Given the description of an element on the screen output the (x, y) to click on. 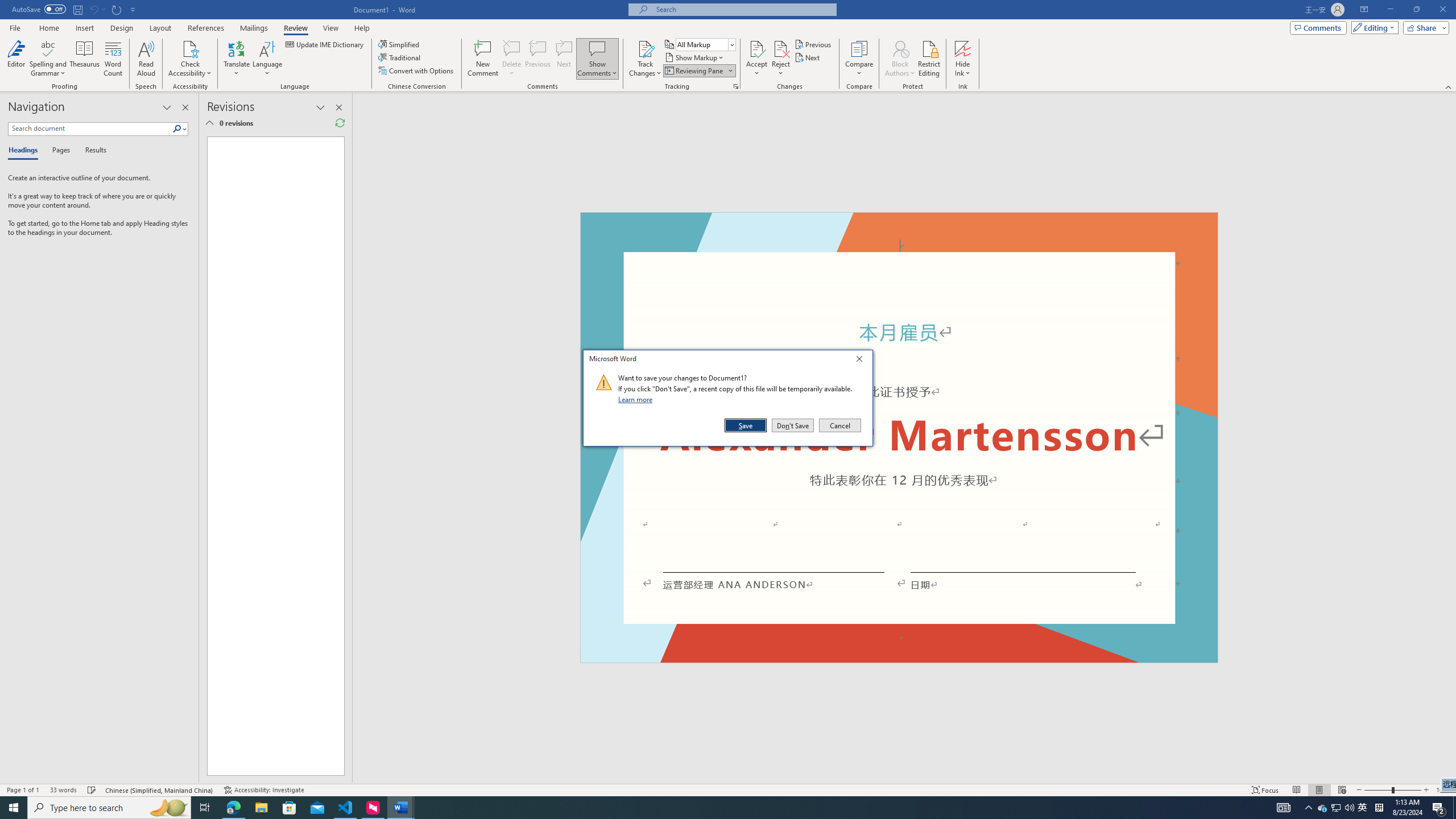
Print Layout (1318, 790)
Zoom In (1426, 790)
Running applications (700, 807)
System (6, 6)
User Promoted Notification Area (1336, 807)
Restrict Editing (929, 58)
Focus  (1265, 790)
Can't Undo (96, 9)
Search highlights icon opens search home window (167, 807)
Page 1 content (271, 455)
Insert (83, 28)
Hide Ink (962, 48)
Notification Chevron (1308, 807)
Spelling and Grammar (48, 58)
